Given the description of an element on the screen output the (x, y) to click on. 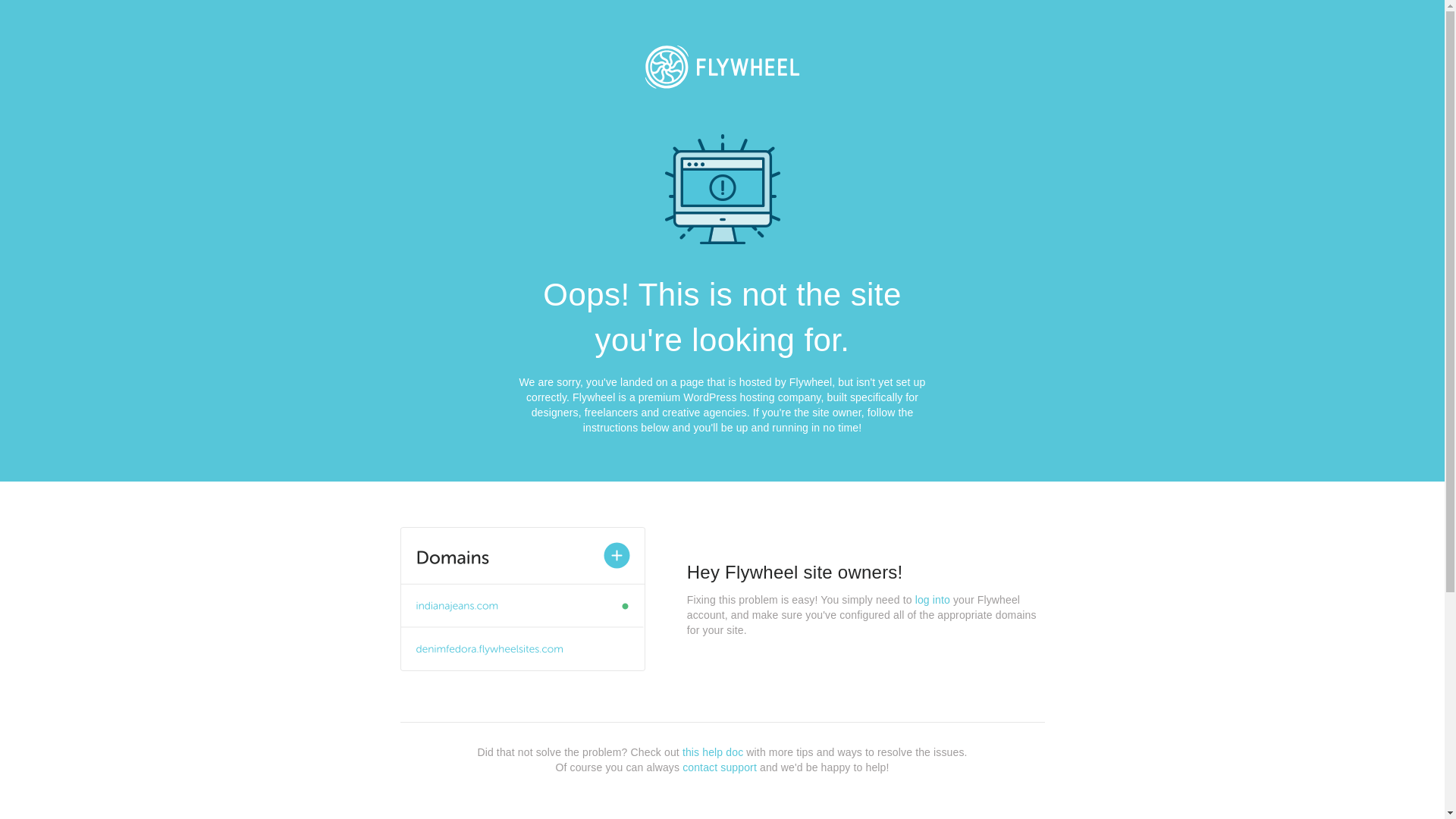
contact support Element type: text (719, 767)
log into Element type: text (932, 599)
this help doc Element type: text (712, 752)
